Given the description of an element on the screen output the (x, y) to click on. 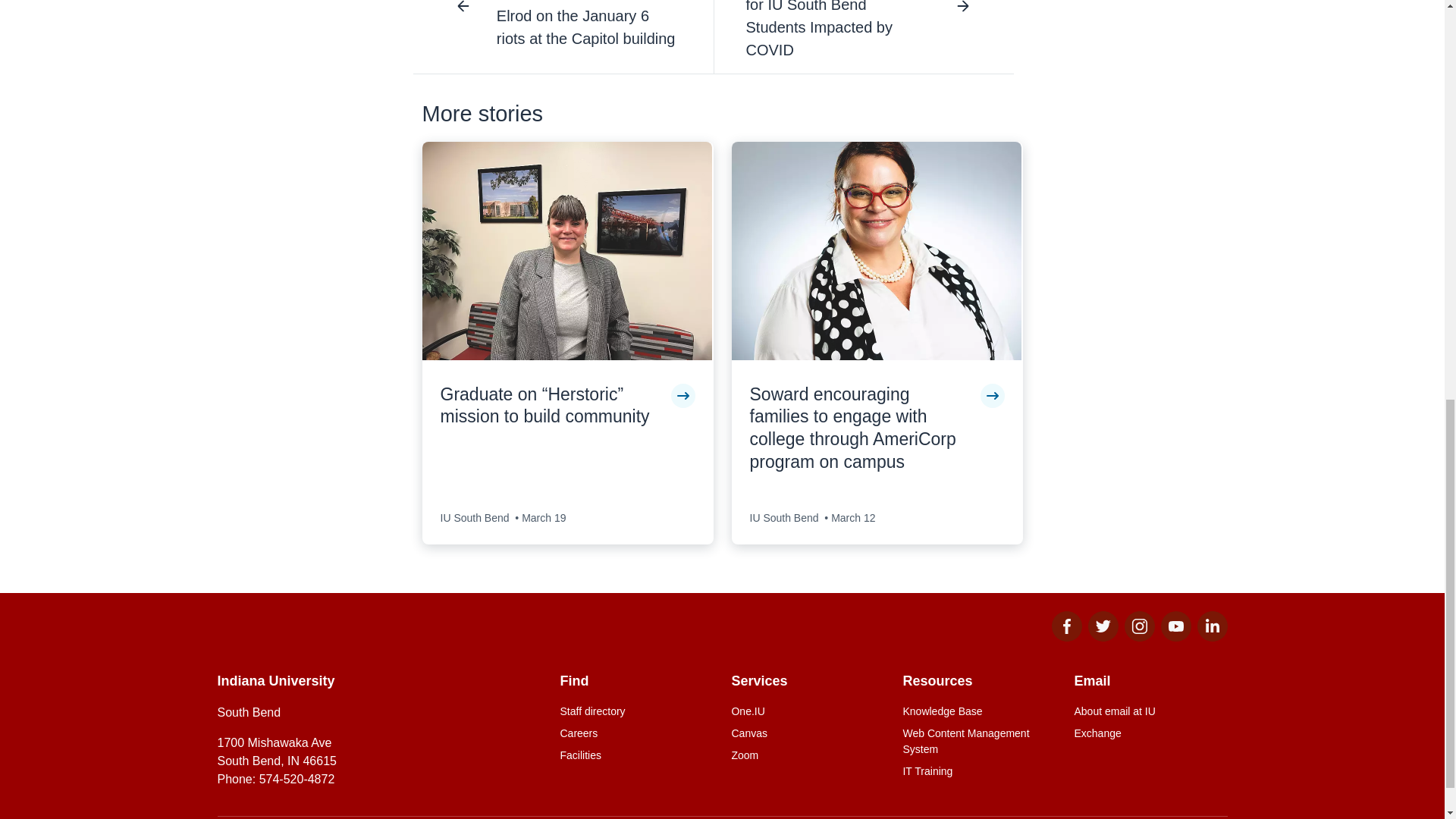
IT Training (978, 771)
Facebook for IU South Bend (1066, 636)
Careers (636, 733)
Instagram for IU (1139, 636)
Knowledge Base (978, 711)
One.IU (806, 711)
Web Content Management System (978, 741)
Canvas (806, 733)
Staff directory (636, 711)
Zoom (806, 755)
